Given the description of an element on the screen output the (x, y) to click on. 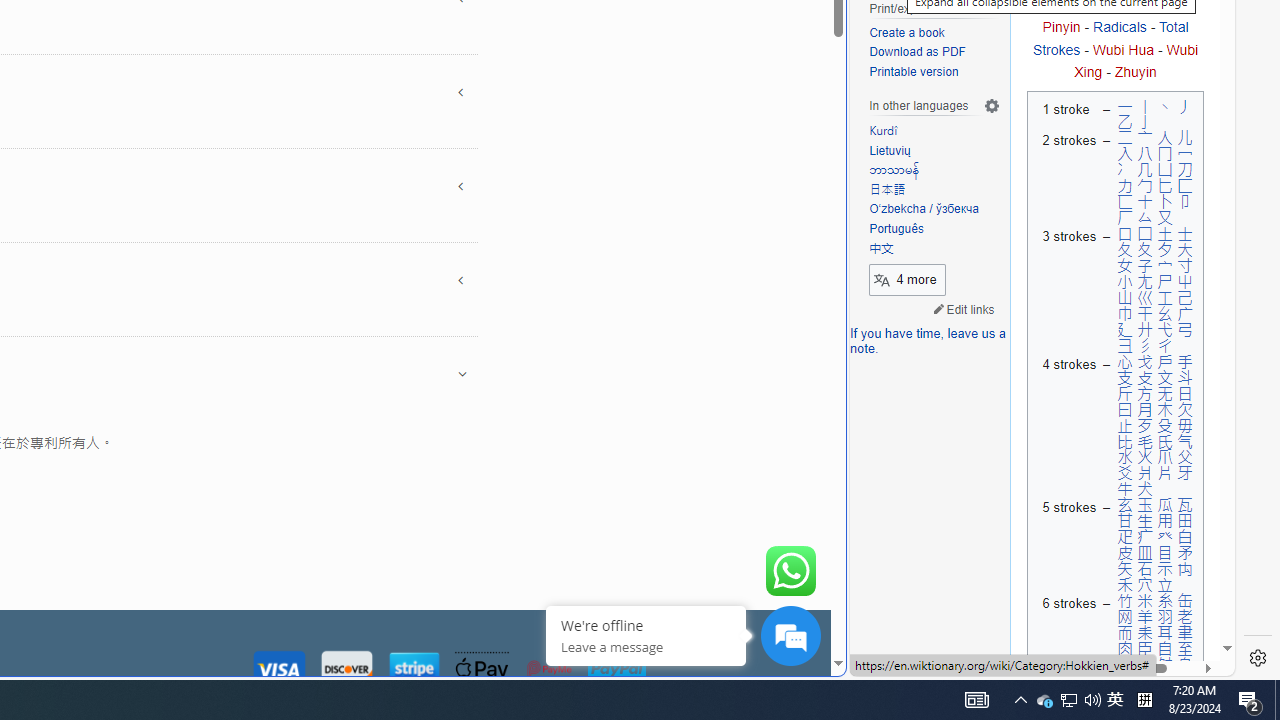
5 strokes (1065, 545)
Zhuyin (1135, 72)
